Given the description of an element on the screen output the (x, y) to click on. 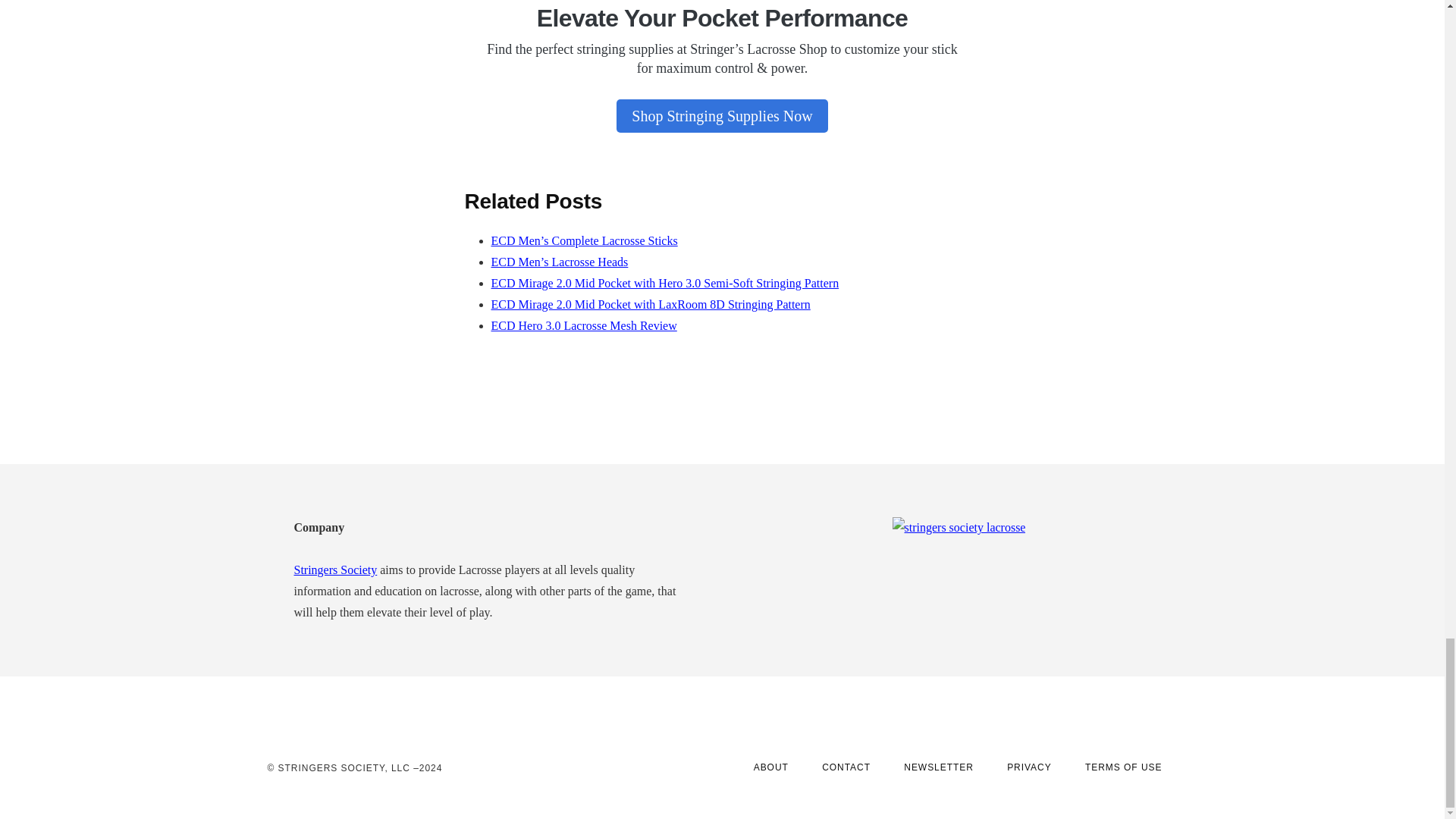
ECD Hero 3.0 Lacrosse Mesh Review (584, 325)
Shop Stringing Supplies Now (721, 115)
ECD Mirage 2.0 Mid Pocket with LaxRoom 8D Stringing Pattern (651, 304)
CONTACT (845, 767)
ABOUT (770, 767)
TERMS OF USE (1123, 767)
NEWSLETTER (938, 767)
PRIVACY (1029, 767)
Stringers Society (335, 569)
